Given the description of an element on the screen output the (x, y) to click on. 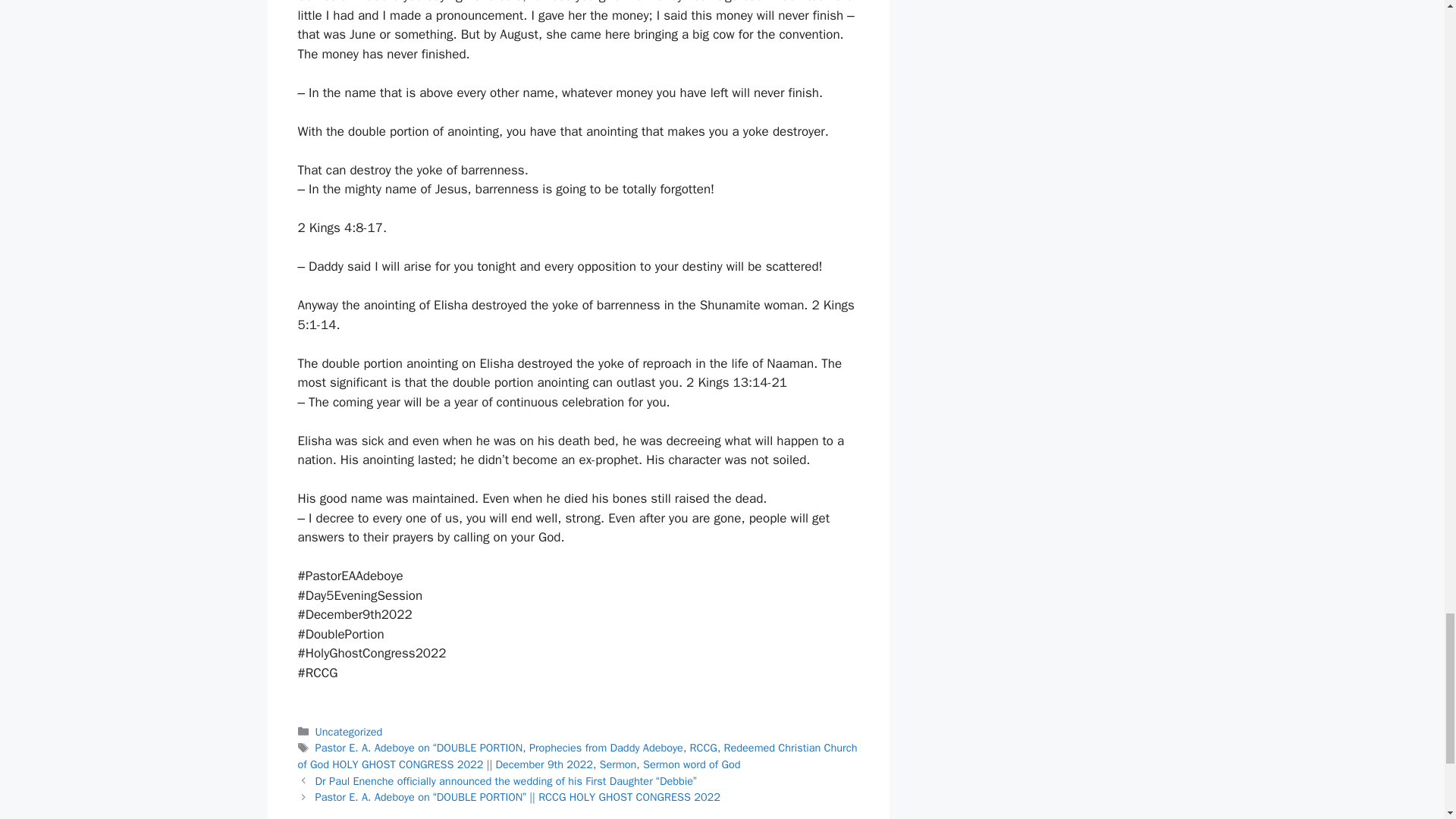
Uncategorized (348, 731)
Prophecies from Daddy Adeboye (605, 747)
RCCG (703, 747)
Sermon (618, 764)
Sermon word of God (692, 764)
